Given the description of an element on the screen output the (x, y) to click on. 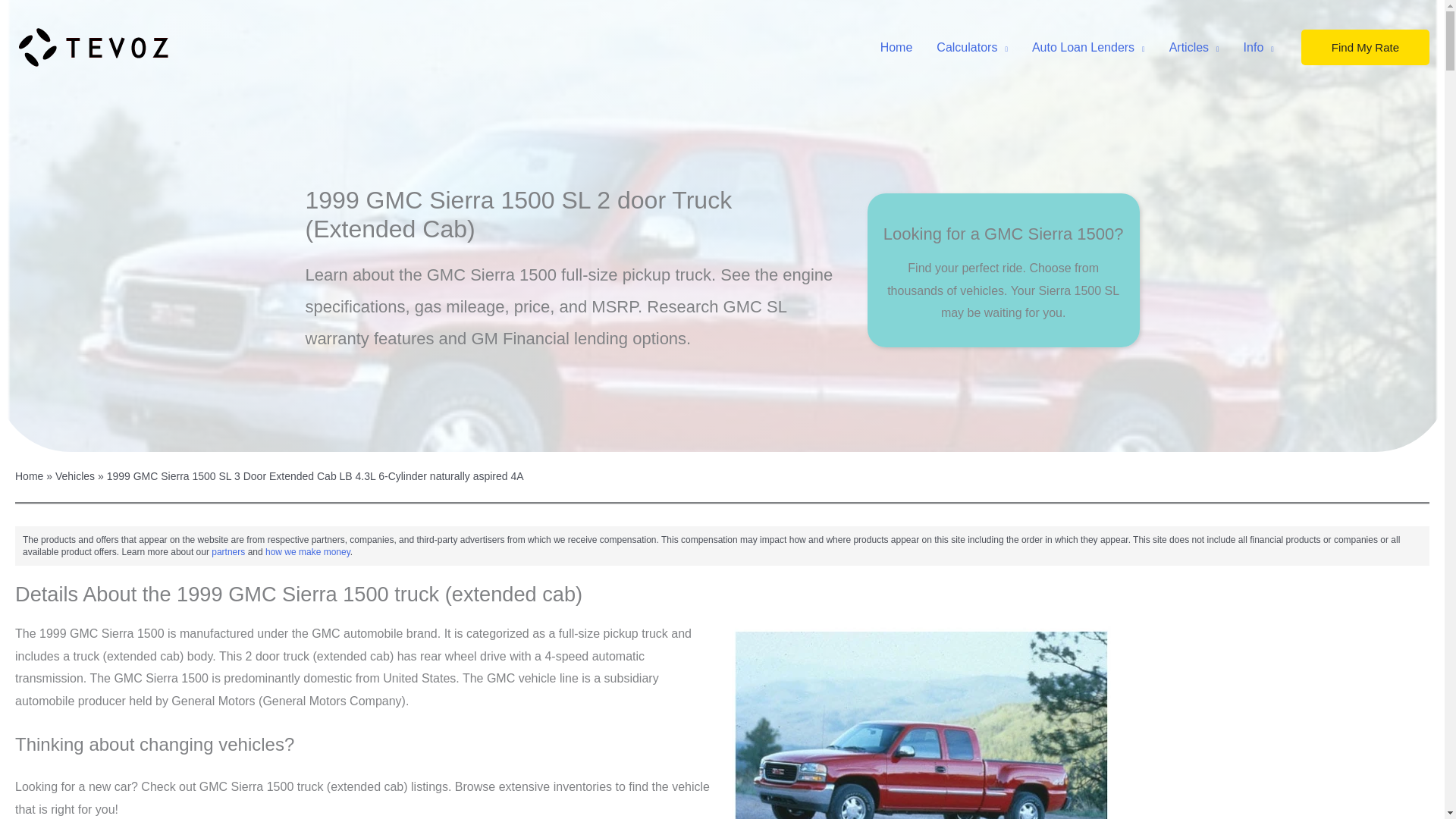
Find My Rate (1365, 47)
Articles (1194, 47)
Info (1258, 47)
Home (895, 47)
Calculators (972, 47)
Auto Loan Lenders (1088, 47)
